Given the description of an element on the screen output the (x, y) to click on. 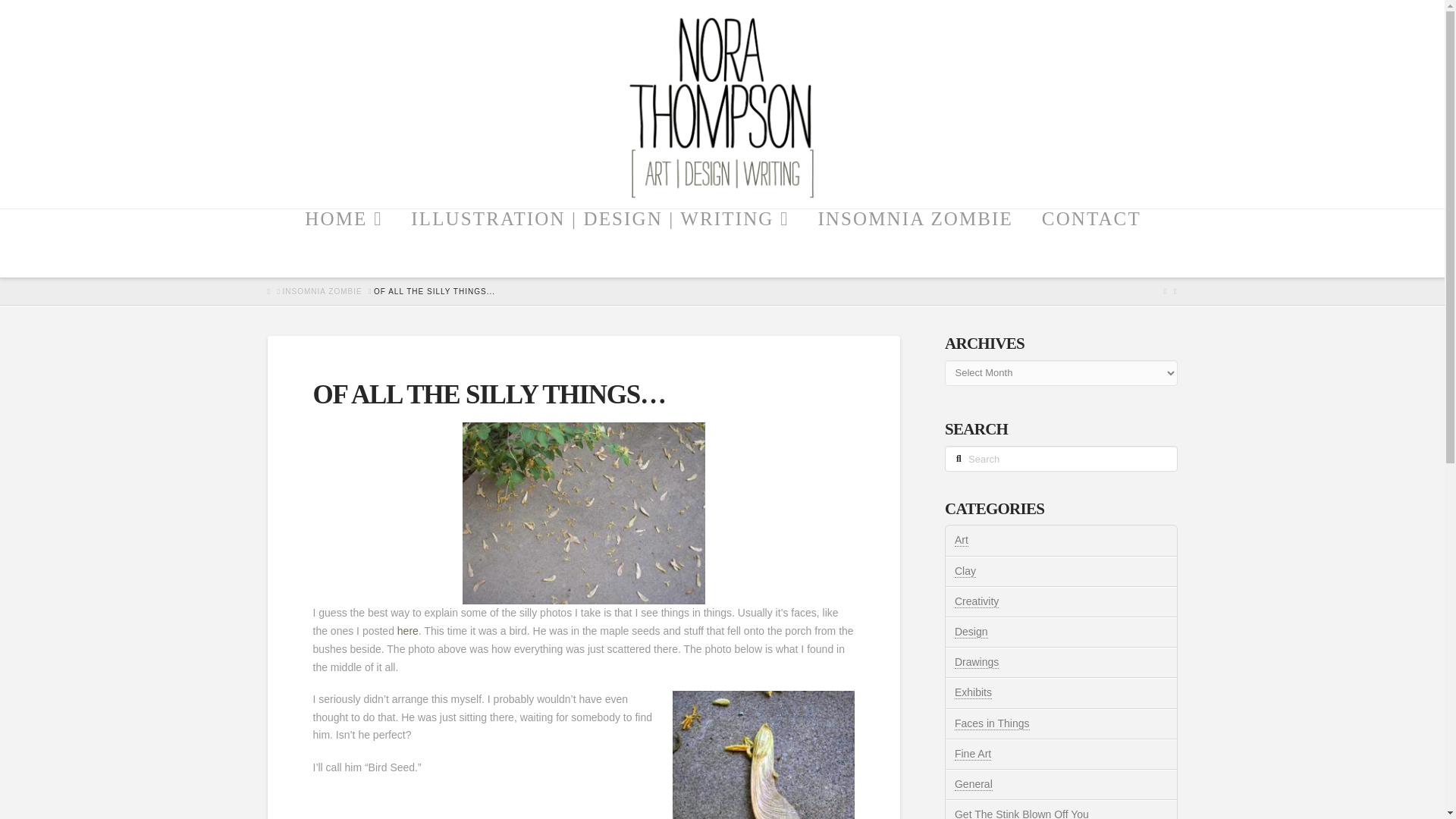
CONTACT (1090, 243)
INSOMNIA ZOMBIE (322, 291)
You Are Here (434, 291)
HOME (342, 243)
INSOMNIA ZOMBIE (914, 243)
